Given the description of an element on the screen output the (x, y) to click on. 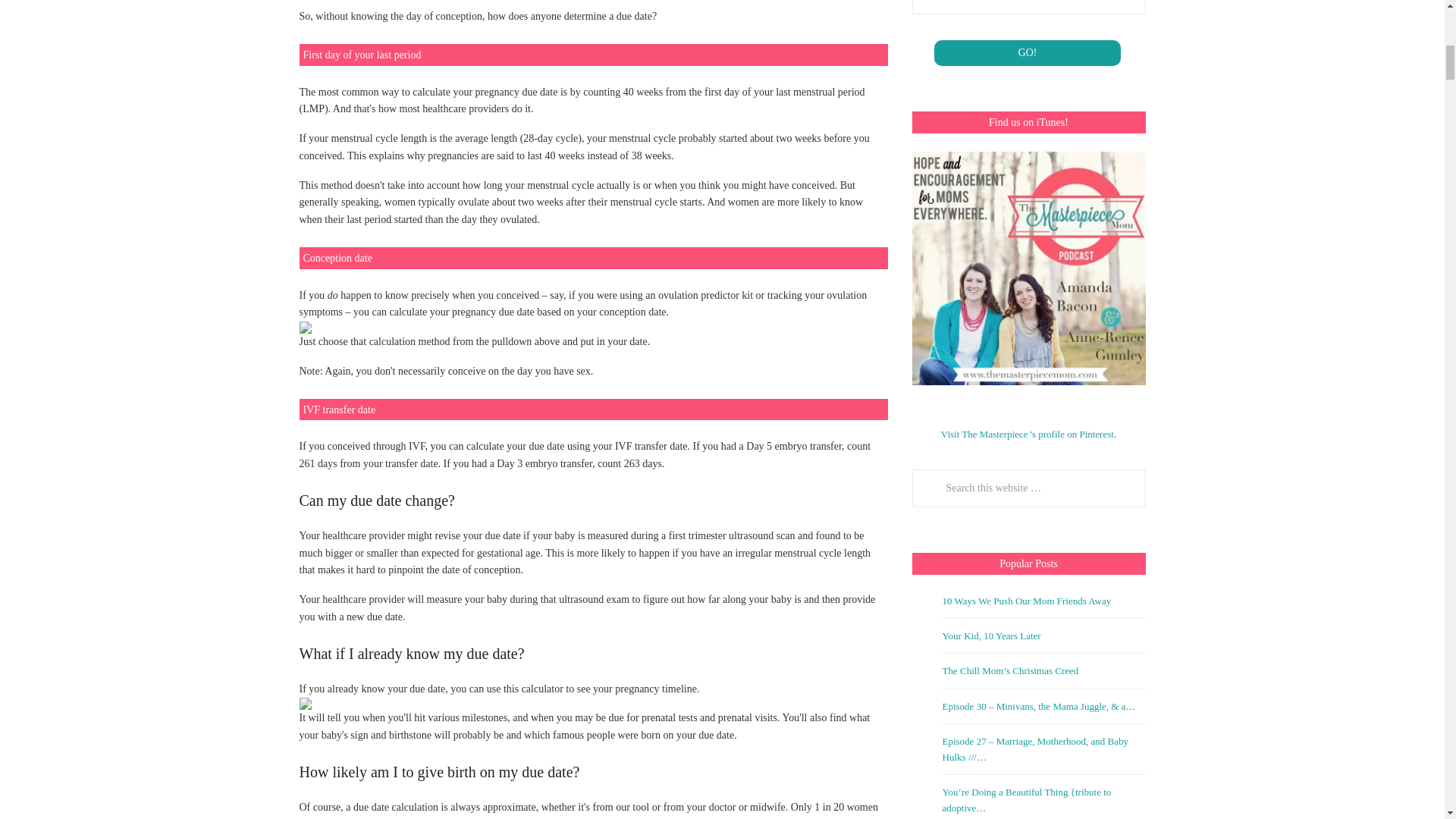
GO! (1027, 53)
GO! (1027, 53)
Visit The Masterpiece 's profile on Pinterest. (1028, 433)
